Given the description of an element on the screen output the (x, y) to click on. 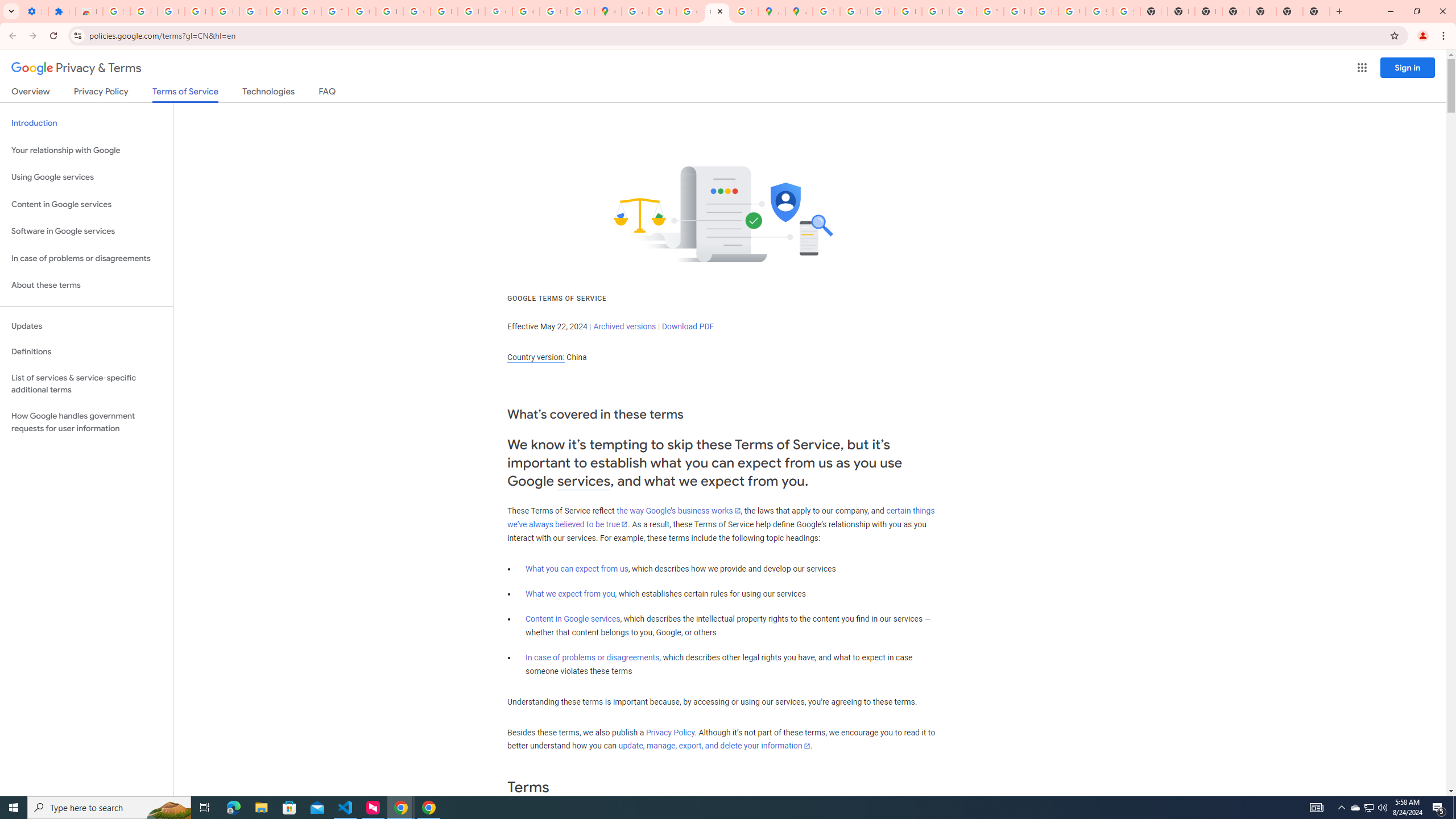
Privacy Help Center - Policies Help (880, 11)
Reviews: Helix Fruit Jump Arcade Game (88, 11)
Google Account (307, 11)
Settings - On startup (34, 11)
What you can expect from us (576, 568)
https://scholar.google.com/ (389, 11)
Definitions (86, 352)
New Tab (1316, 11)
